Given the description of an element on the screen output the (x, y) to click on. 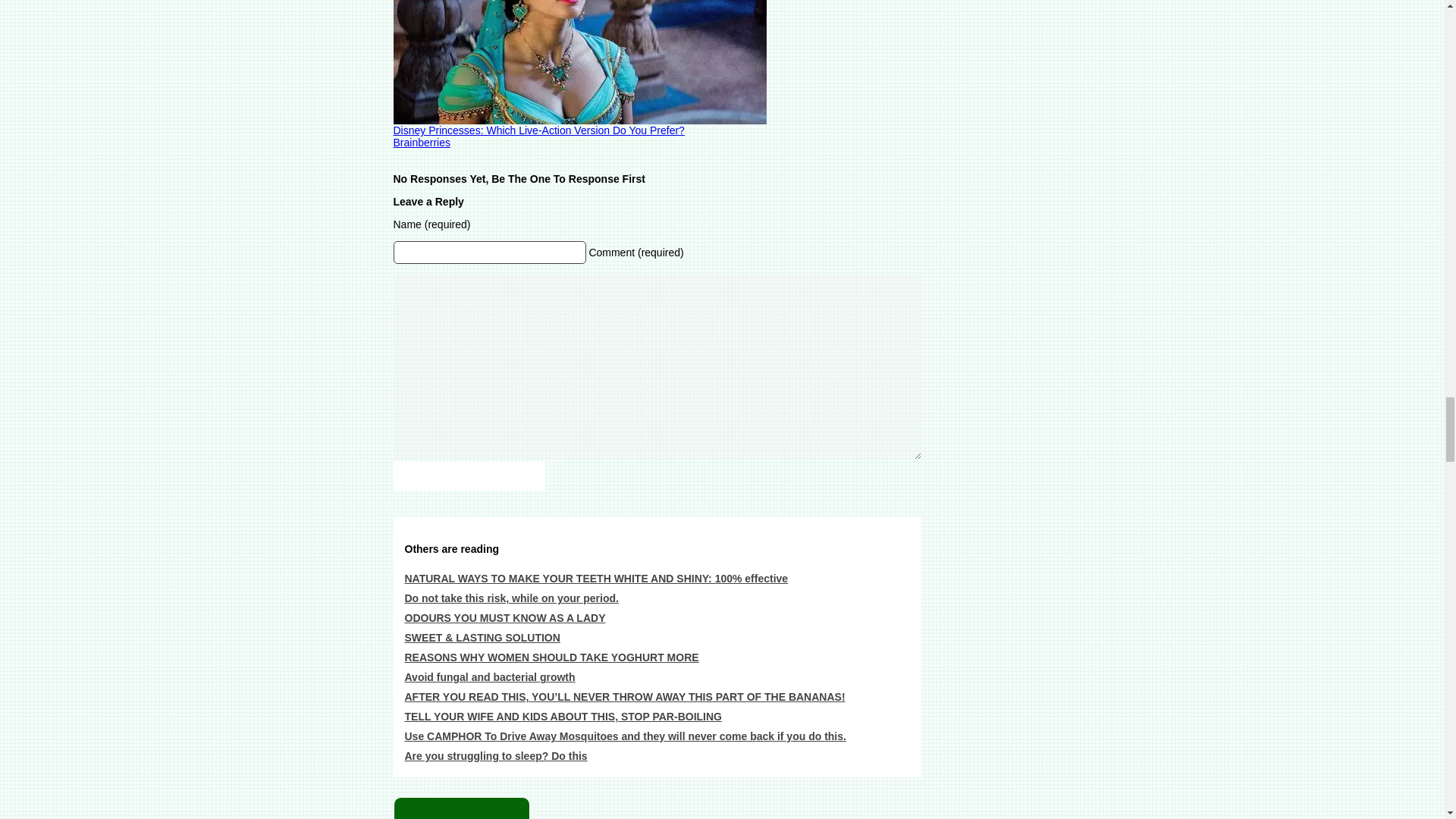
Do not take this risk, while on your period. (511, 598)
Avoid fungal and bacterial growth (489, 676)
REASONS WHY WOMEN SHOULD TAKE YOGHURT MORE (551, 657)
Submit Comment (468, 475)
Submit Comment (468, 475)
ODOURS YOU MUST KNOW AS A LADY (504, 617)
TELL YOUR WIFE AND KIDS ABOUT THIS, STOP PAR-BOILING (563, 716)
